Given the description of an element on the screen output the (x, y) to click on. 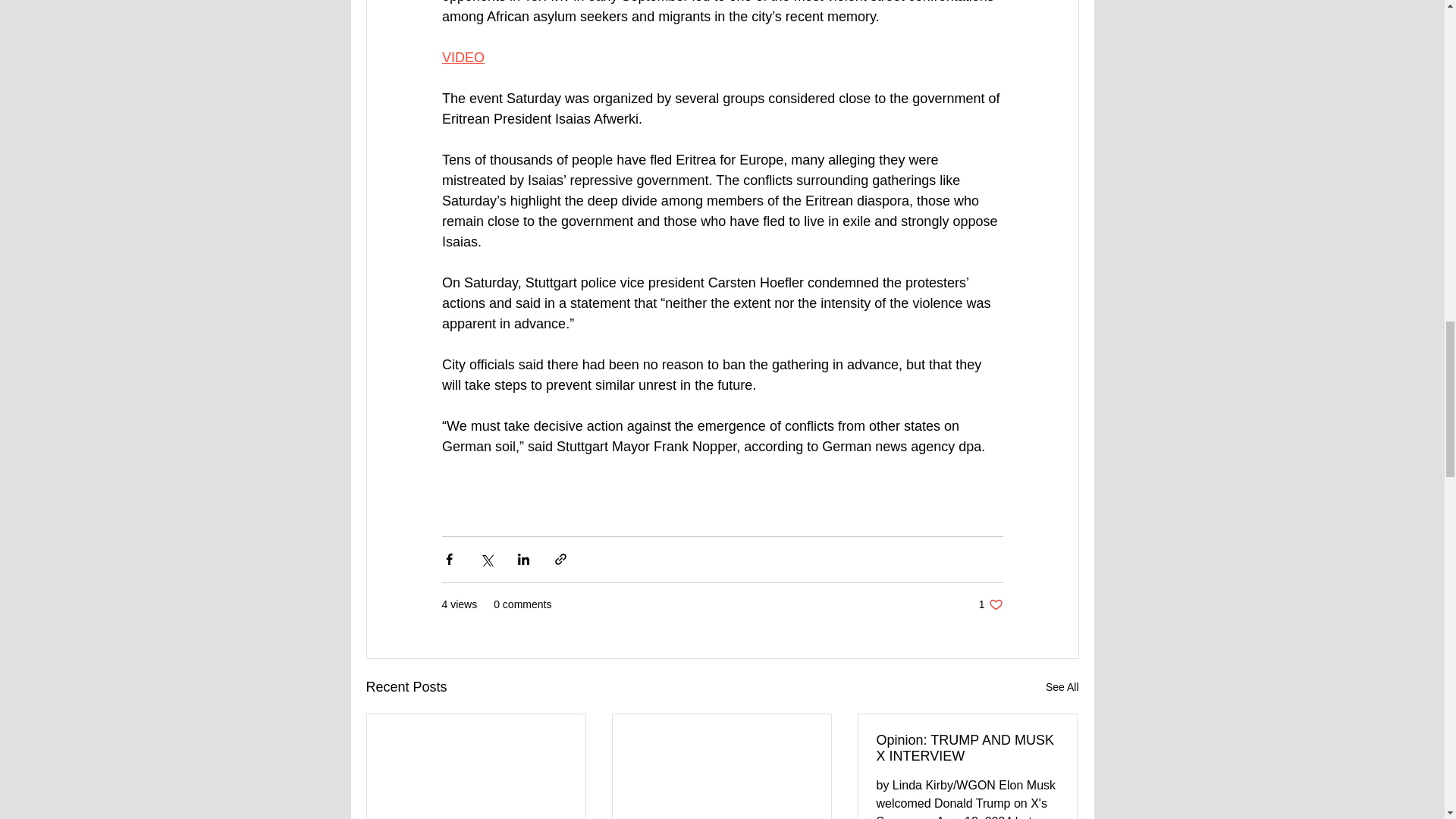
See All (1061, 687)
Opinion: TRUMP AND MUSK X INTERVIEW (990, 604)
VIDEO (967, 748)
